Given the description of an element on the screen output the (x, y) to click on. 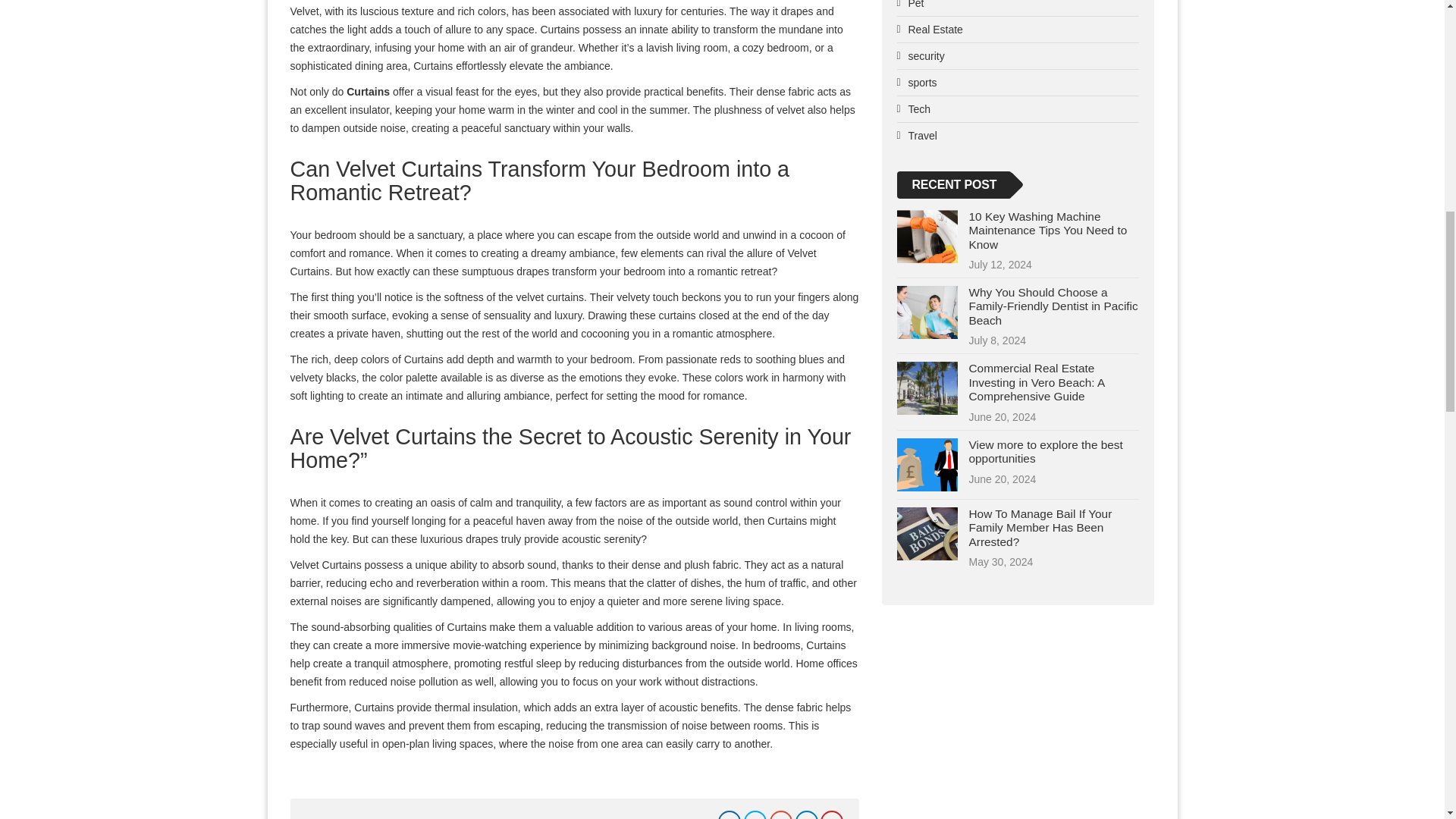
Curtains (368, 91)
Facebook (729, 814)
Twitter (755, 814)
Linkedin (806, 814)
Pinterest (832, 814)
Google Plus (781, 814)
